Given the description of an element on the screen output the (x, y) to click on. 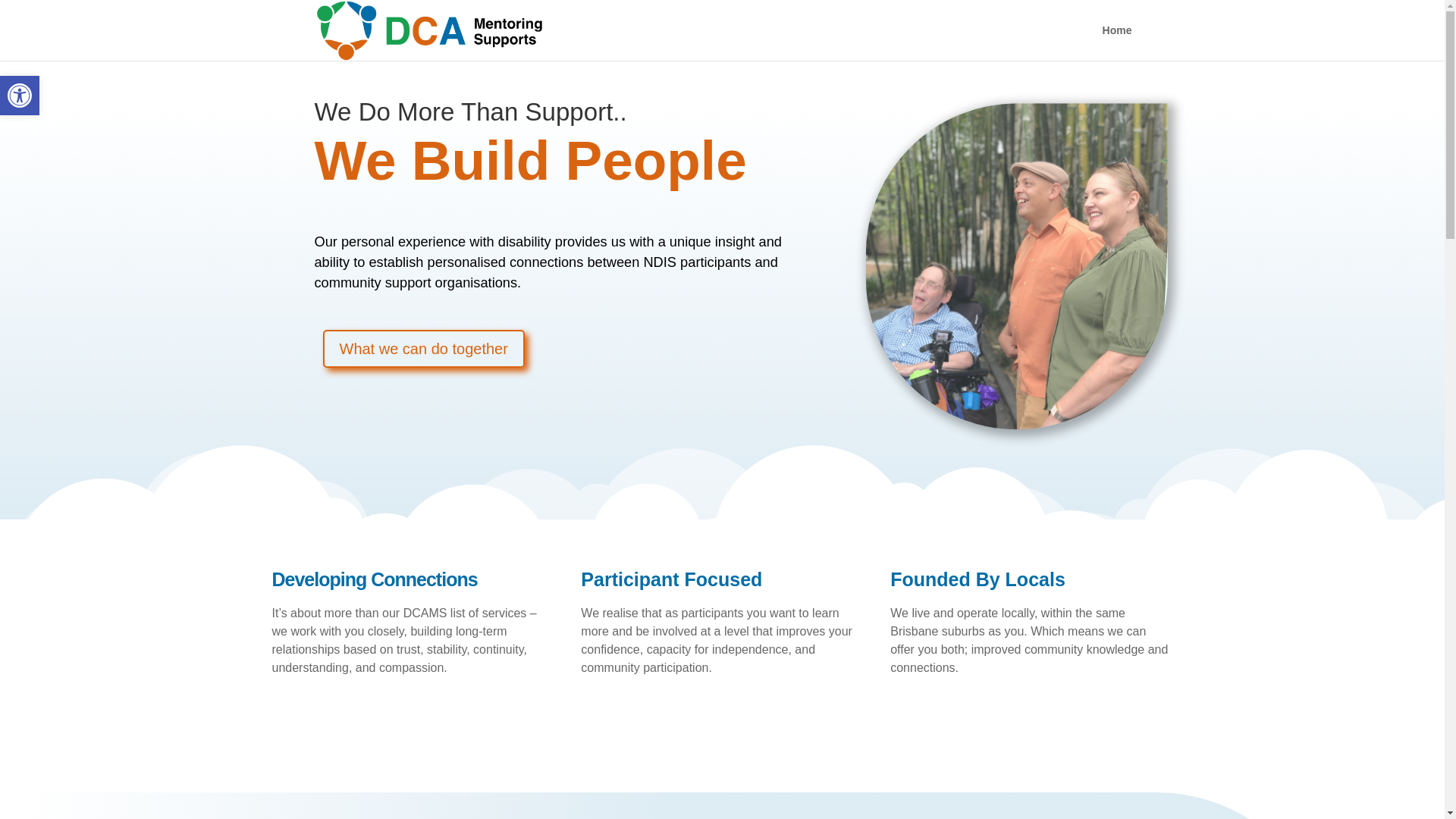
Open toolbar (19, 95)
Accessibility Tools (19, 95)
What we can do together (423, 348)
